Given the description of an element on the screen output the (x, y) to click on. 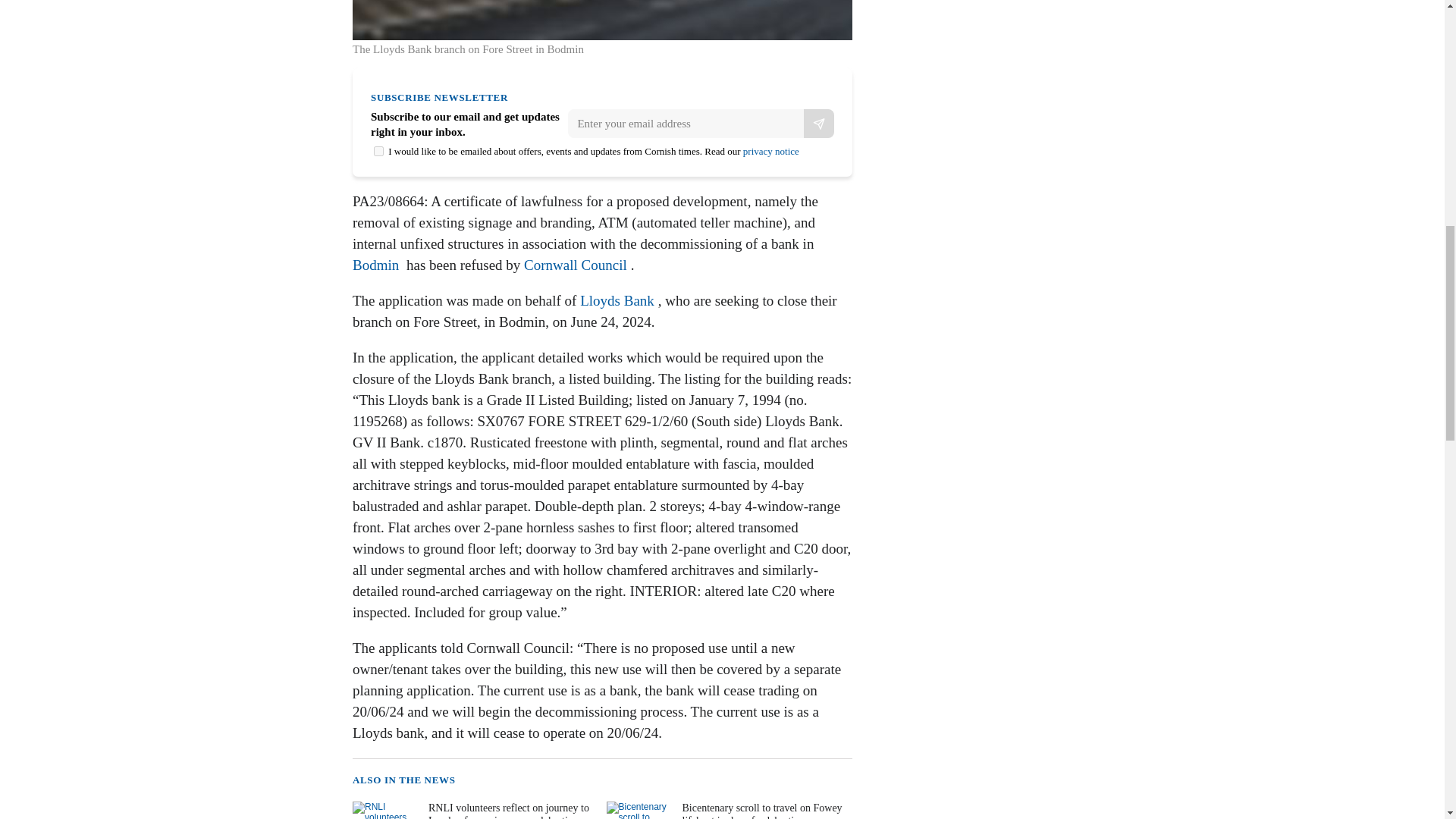
on (379, 151)
Cornwall Council (575, 264)
Bodmin (375, 264)
privacy notice (770, 151)
Lloyds Bank (616, 300)
